Given the description of an element on the screen output the (x, y) to click on. 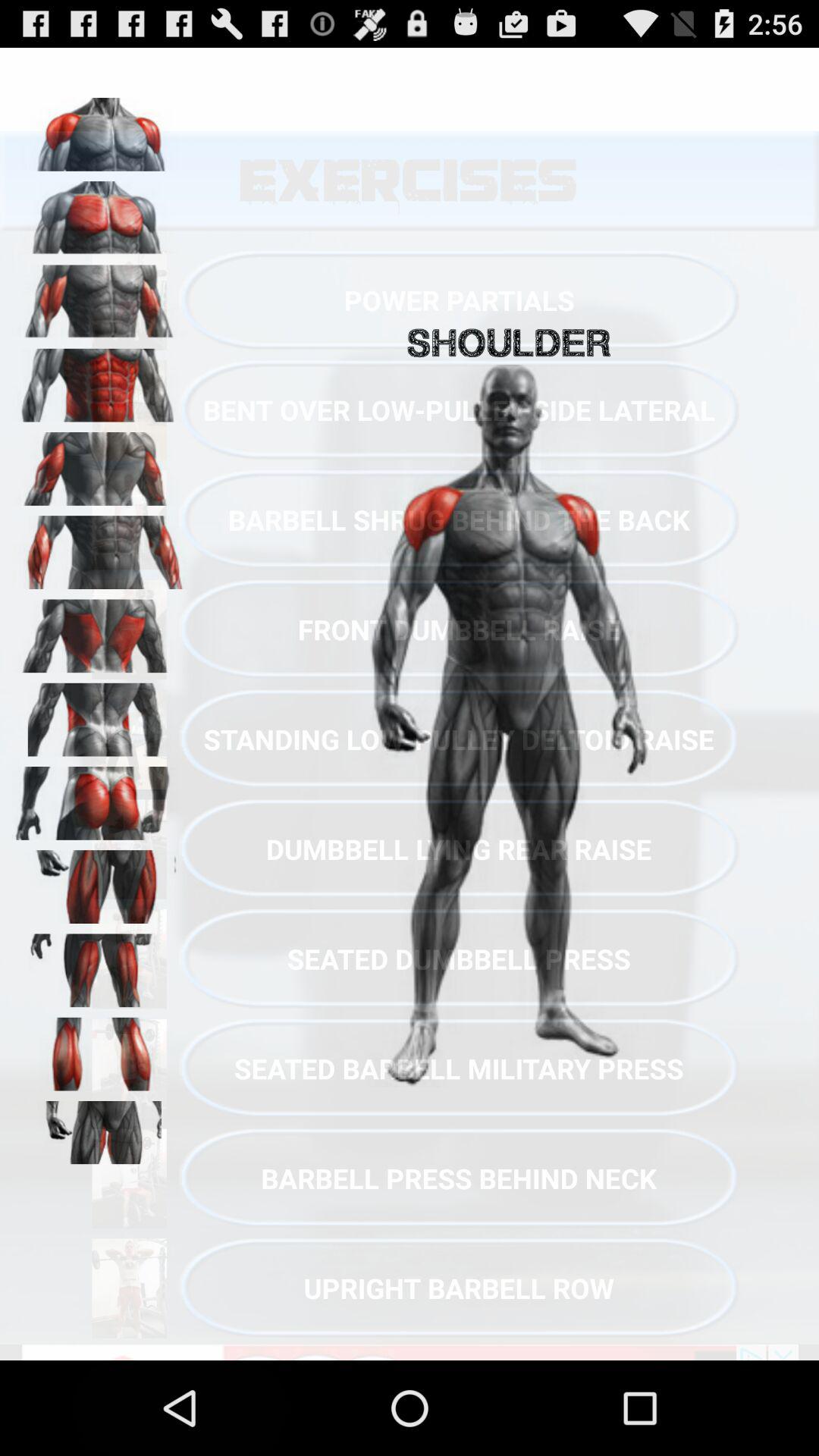
select this muscle group (99, 1132)
